Given the description of an element on the screen output the (x, y) to click on. 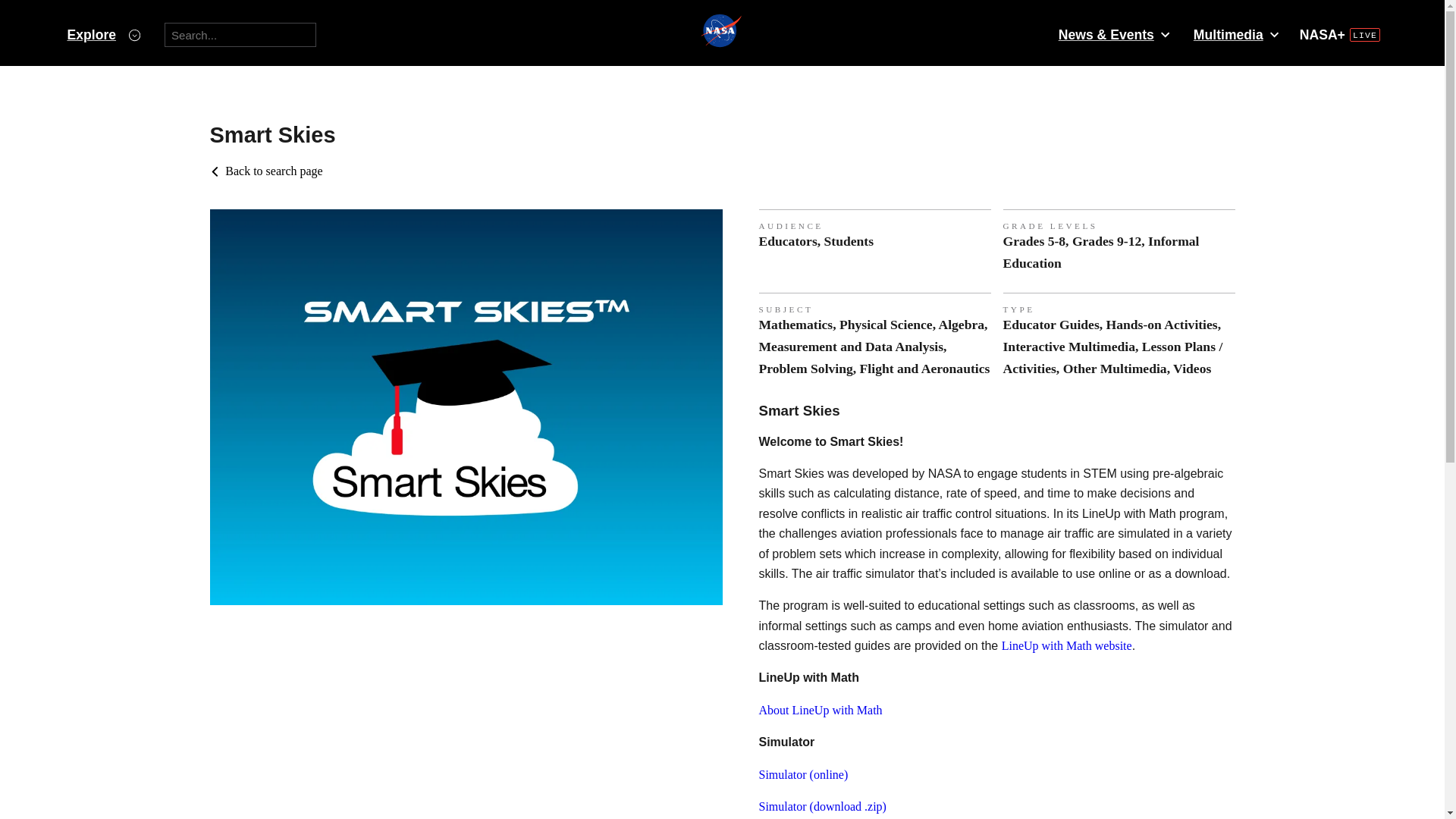
Multimedia (1235, 35)
Explore (103, 35)
LineUp with Math website (1066, 645)
Back to search page (265, 171)
About LineUp with Math (820, 709)
